Given the description of an element on the screen output the (x, y) to click on. 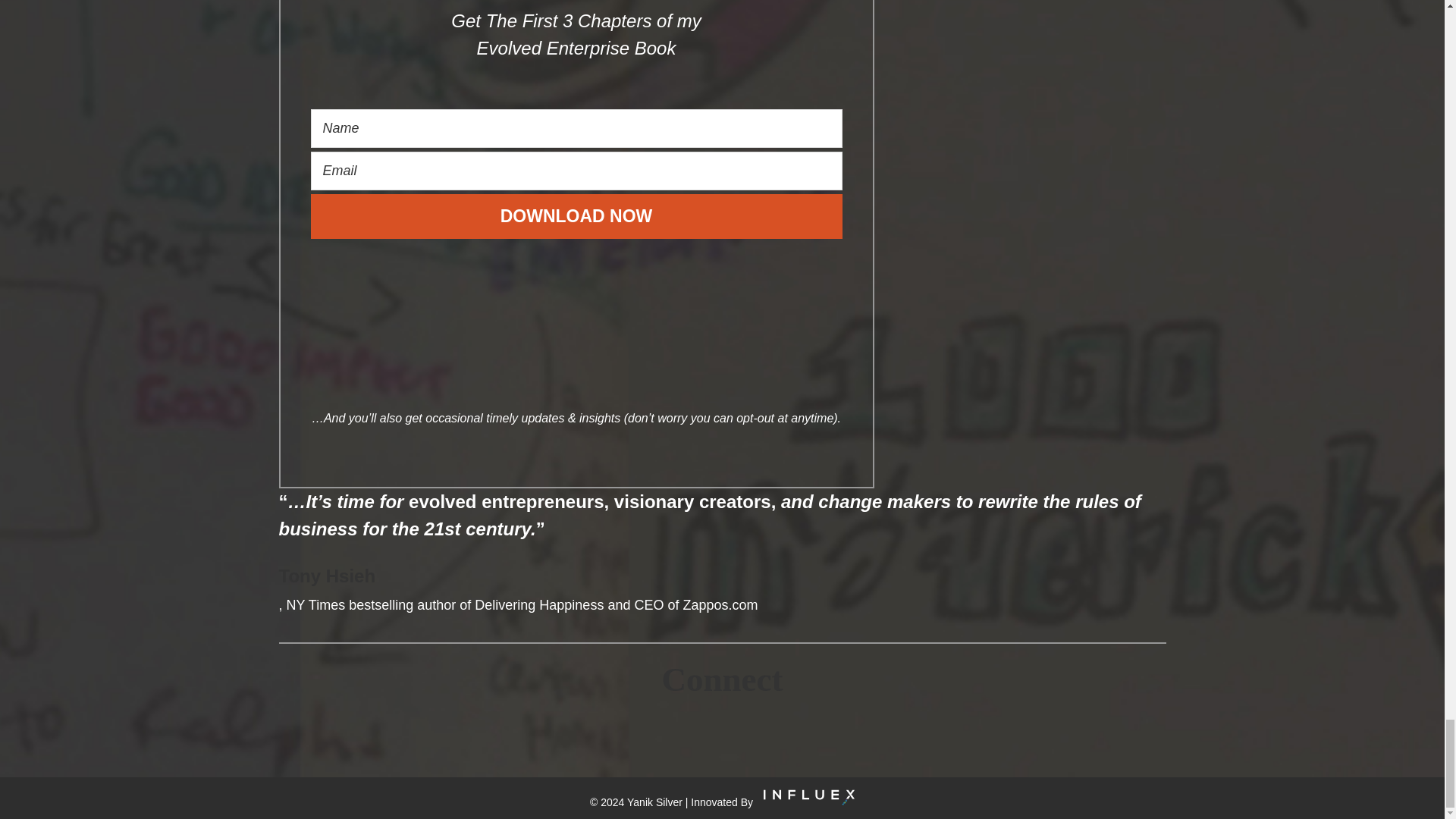
Download Now (577, 216)
Yanik Silver (654, 801)
Download Now (577, 216)
Yanik Silver (654, 801)
